Given the description of an element on the screen output the (x, y) to click on. 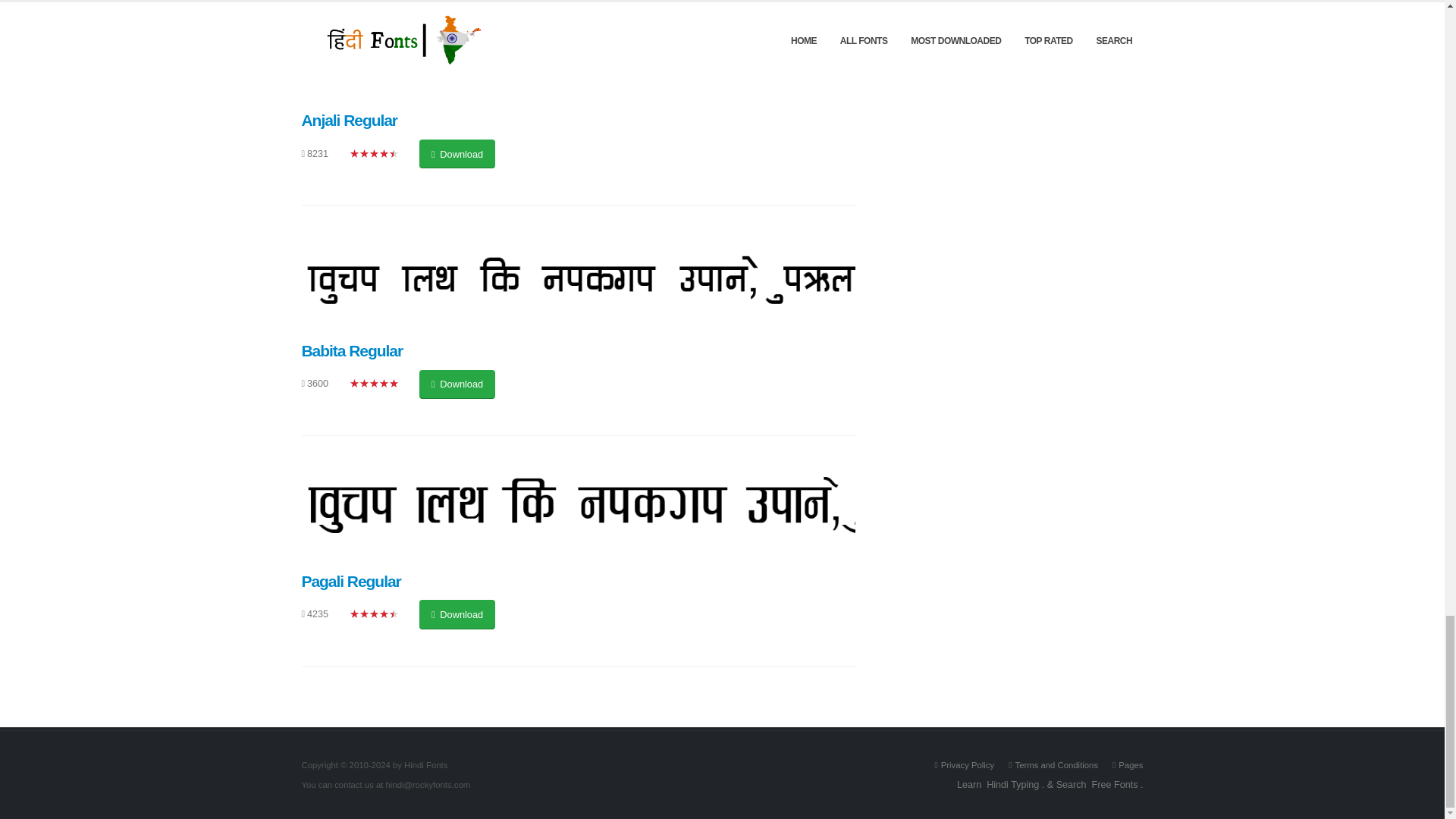
Babita Regular (352, 350)
Privacy Policy (967, 764)
Hindi Typing (1013, 784)
Pagali Regular (351, 580)
Download (457, 153)
Download (457, 384)
Anjali Regular (349, 119)
Free Fonts (1115, 784)
Download (457, 613)
Pages (1130, 764)
Terms and Conditions (1055, 764)
